Given the description of an element on the screen output the (x, y) to click on. 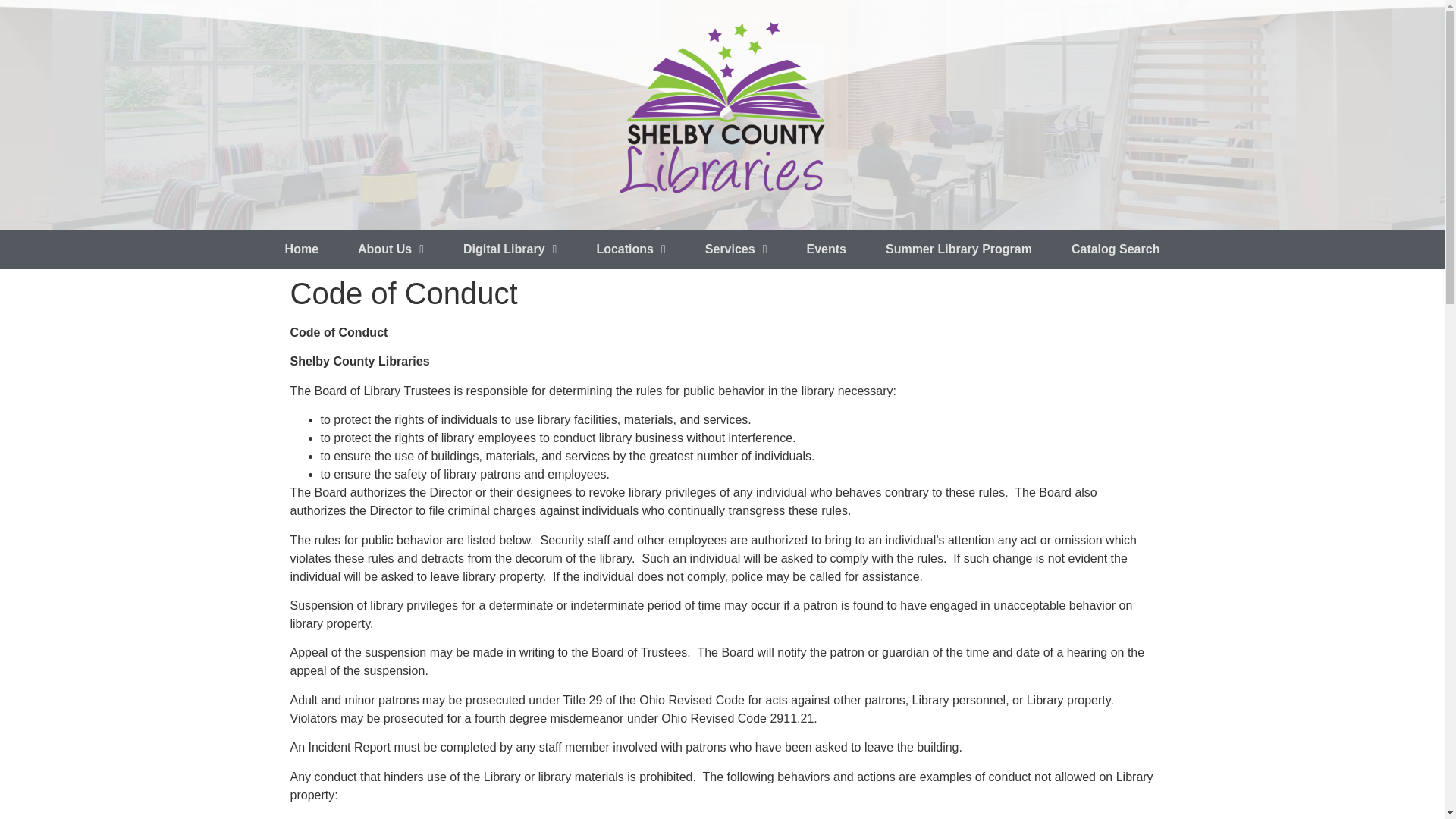
Home (300, 249)
Summer Library Program (958, 249)
Locations (630, 249)
Digital Library (510, 249)
Events (826, 249)
About Us (390, 249)
Services (736, 249)
scl-logo-vertical-full-color (721, 107)
Catalog Search (1115, 249)
